Given the description of an element on the screen output the (x, y) to click on. 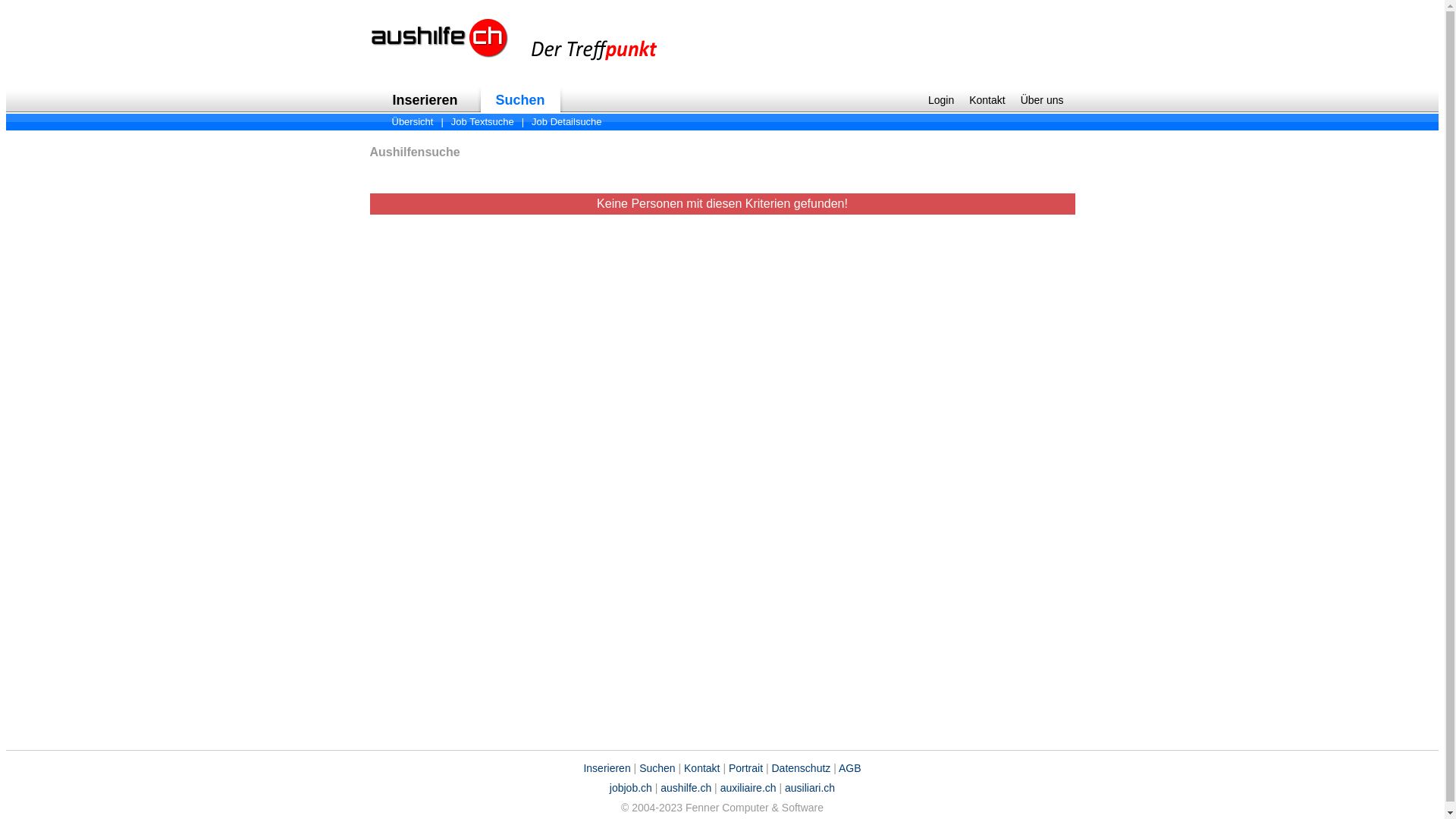
aushilfe.ch Element type: text (685, 787)
Inserieren Element type: text (425, 99)
Job Detailsuche Element type: text (566, 121)
jobjob.ch Element type: text (630, 787)
Portrait Element type: text (745, 768)
Kontakt Element type: text (701, 768)
Inserieren Element type: text (606, 768)
AGB Element type: text (849, 768)
Kontakt Element type: text (986, 100)
auxiliaire.ch Element type: text (748, 787)
Login Element type: text (940, 100)
Datenschutz Element type: text (800, 768)
ausiliari.ch Element type: text (809, 787)
Job Textsuche Element type: text (482, 121)
Suchen Element type: text (520, 99)
Suchen Element type: text (656, 768)
Zur Startseite Element type: hover (514, 68)
